Given the description of an element on the screen output the (x, y) to click on. 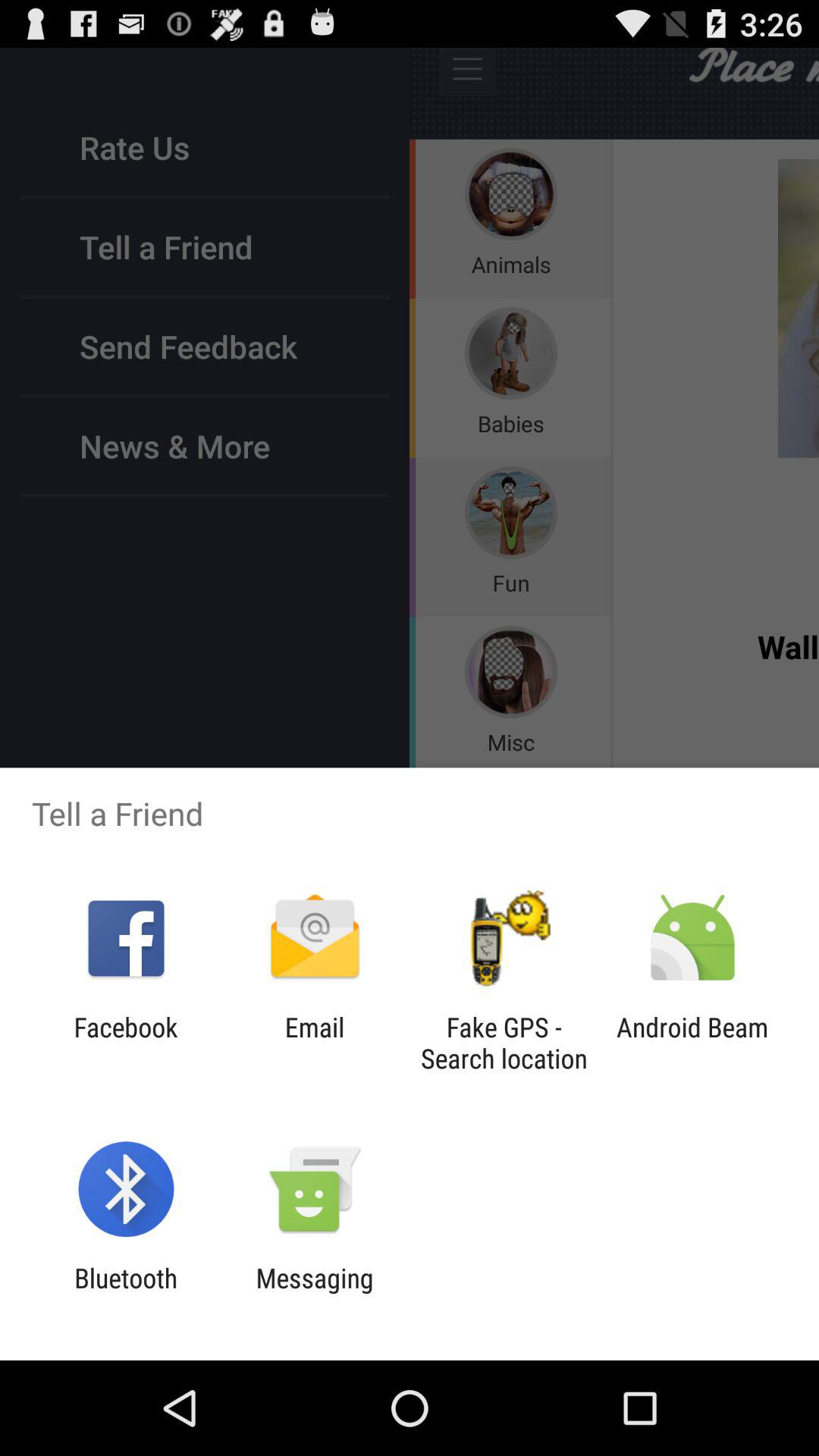
click item next to the fake gps search icon (314, 1042)
